Given the description of an element on the screen output the (x, y) to click on. 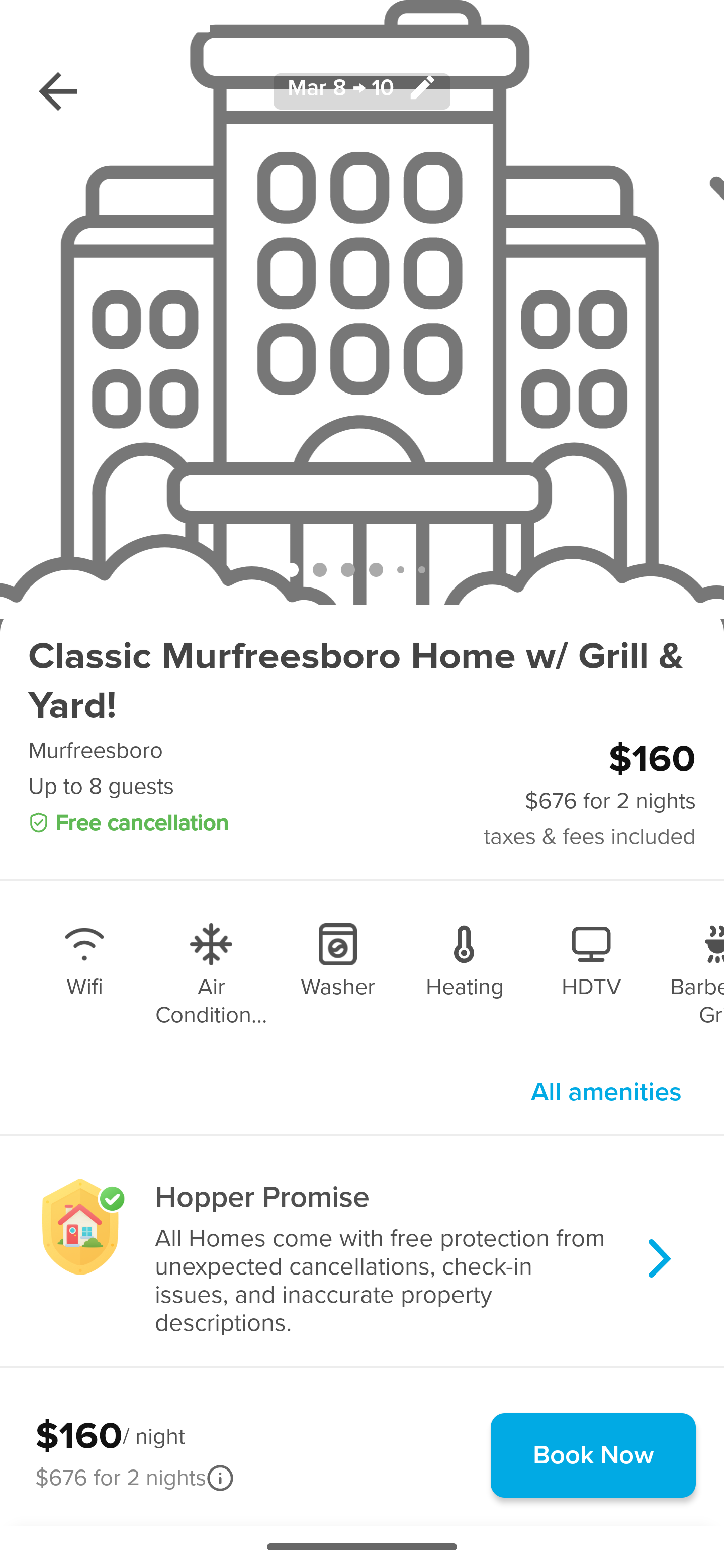
Mar 8 → 10 (361, 90)
Classic Murfreesboro Home w/ Grill & Yard! (361, 681)
All amenities (606, 1091)
Book Now (592, 1454)
